Given the description of an element on the screen output the (x, y) to click on. 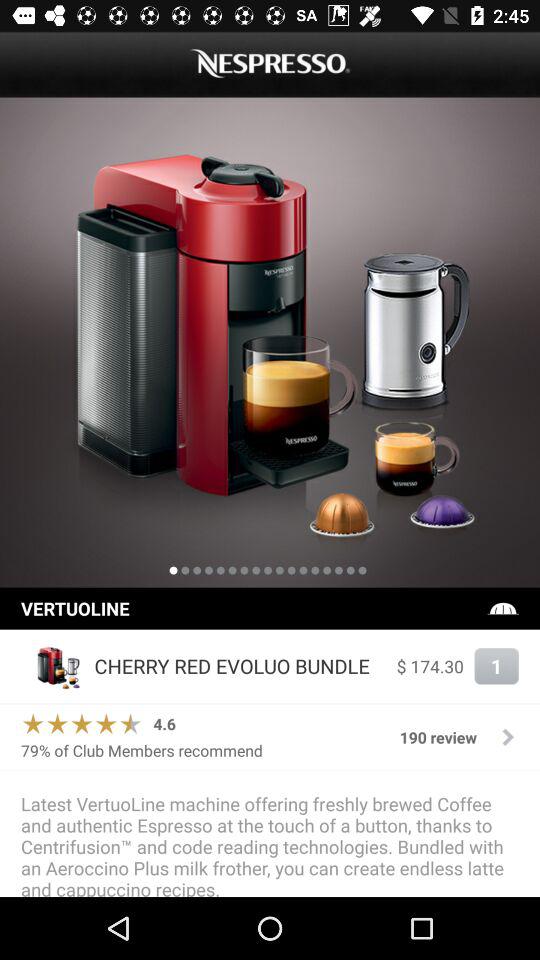
select the 4.6 icon (164, 723)
